Given the description of an element on the screen output the (x, y) to click on. 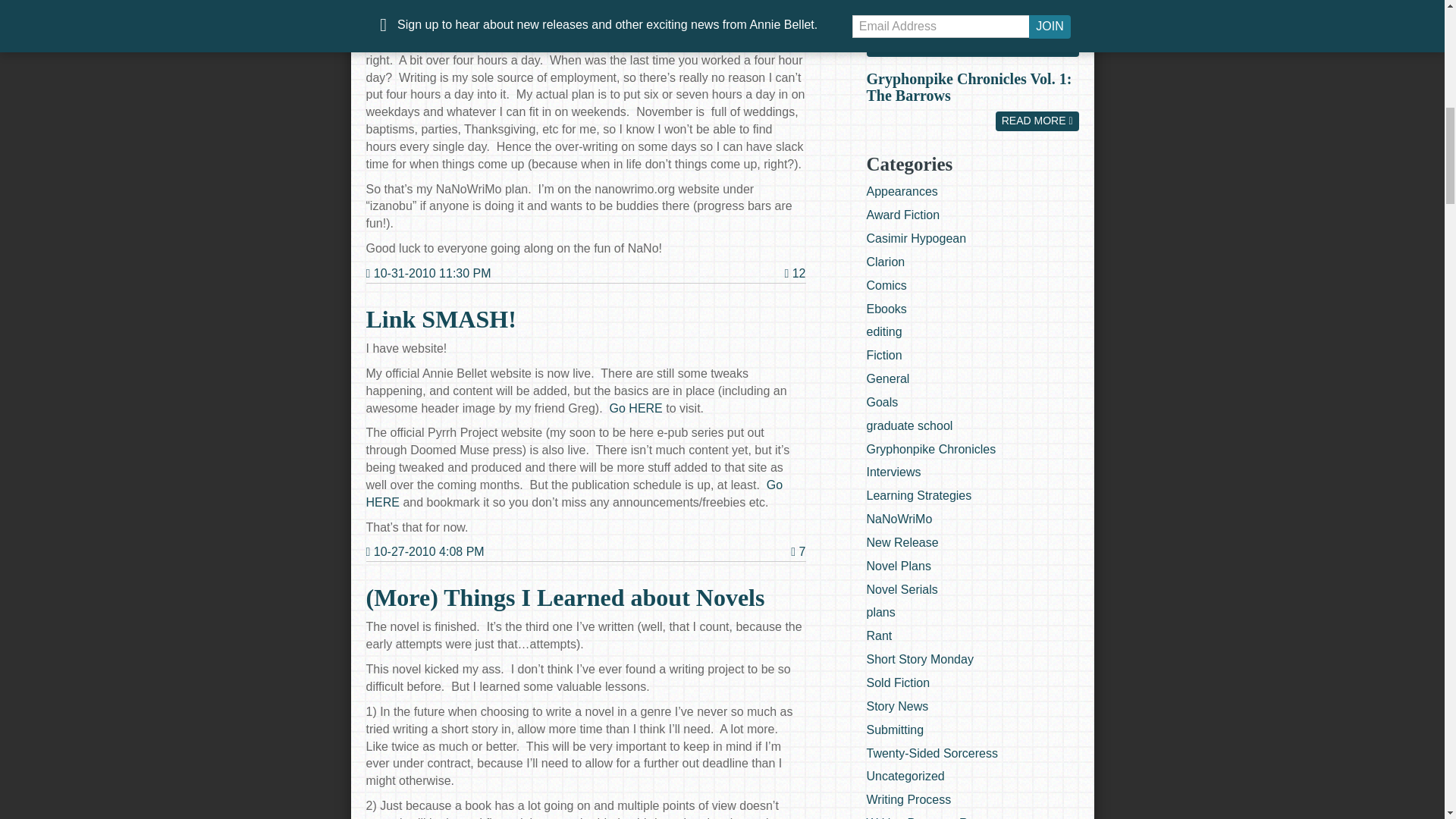
10-31-2010 11:30 PM (427, 273)
Link SMASH! (440, 318)
Go HERE (574, 493)
7 (797, 551)
Go HERE (636, 408)
10-27-2010 4:08 PM (424, 552)
12 (794, 273)
